Given the description of an element on the screen output the (x, y) to click on. 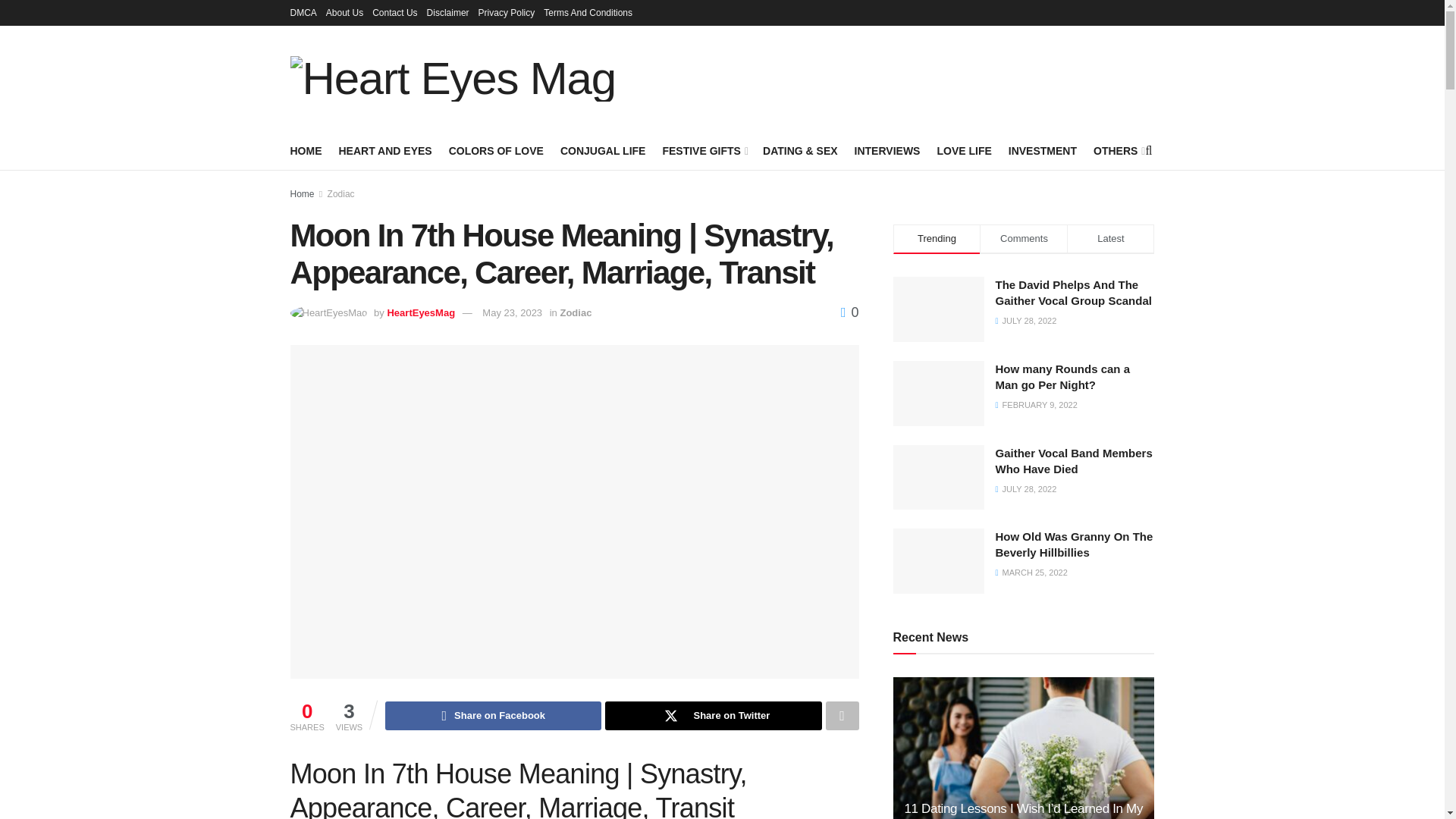
INVESTMENT (1043, 150)
FESTIVE GIFTS (703, 150)
Terms And Conditions (587, 12)
HEART AND EYES (383, 150)
DMCA (302, 12)
INTERVIEWS (887, 150)
OTHERS (1117, 150)
Contact Us (394, 12)
HOME (305, 150)
Disclaimer (447, 12)
About Us (344, 12)
Privacy Policy (507, 12)
LOVE LIFE (963, 150)
COLORS OF LOVE (495, 150)
CONJUGAL LIFE (603, 150)
